Given the description of an element on the screen output the (x, y) to click on. 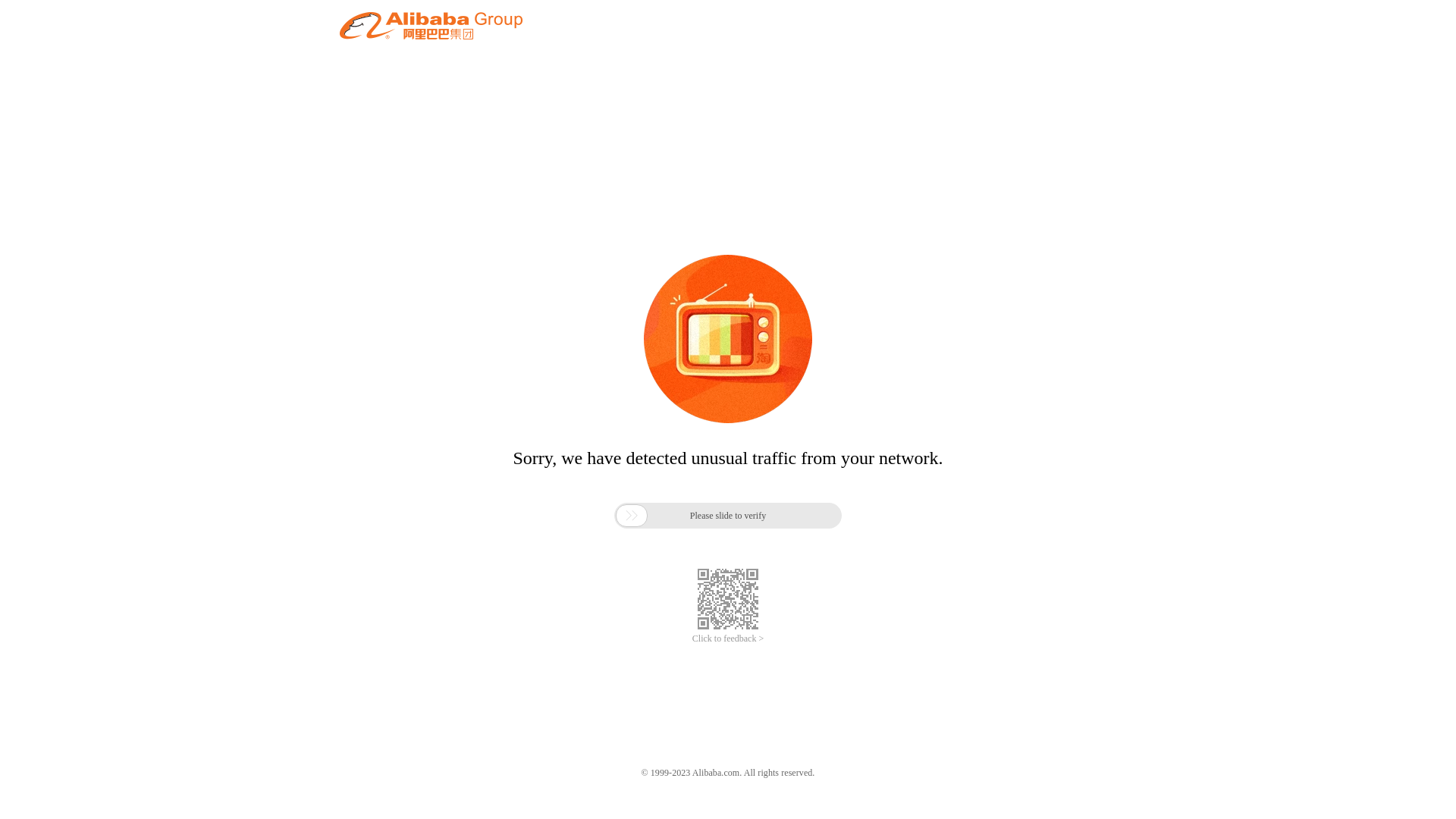
Click to feedback > Element type: text (727, 638)
